Given the description of an element on the screen output the (x, y) to click on. 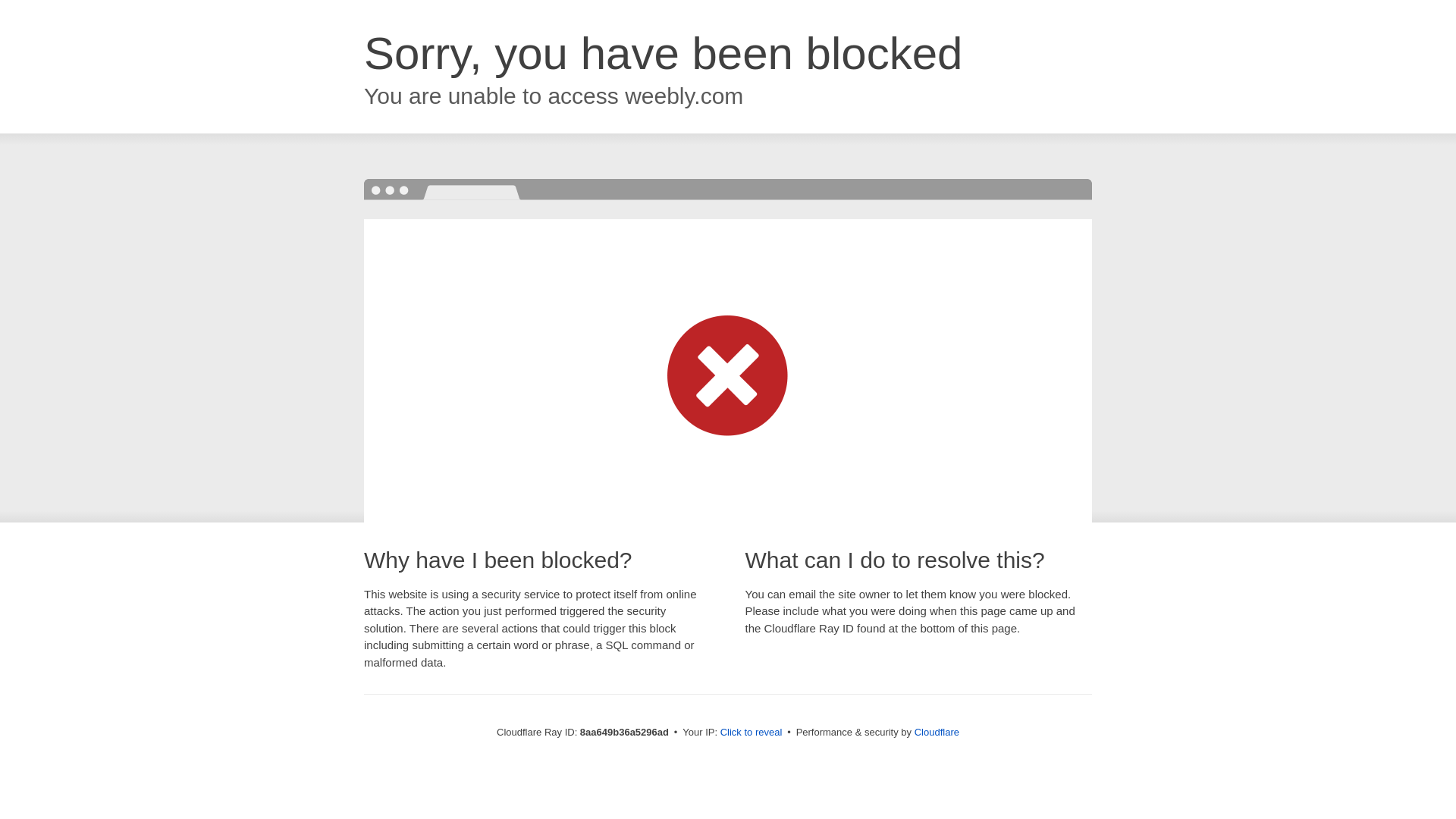
Click to reveal (751, 732)
Cloudflare (936, 731)
